Given the description of an element on the screen output the (x, y) to click on. 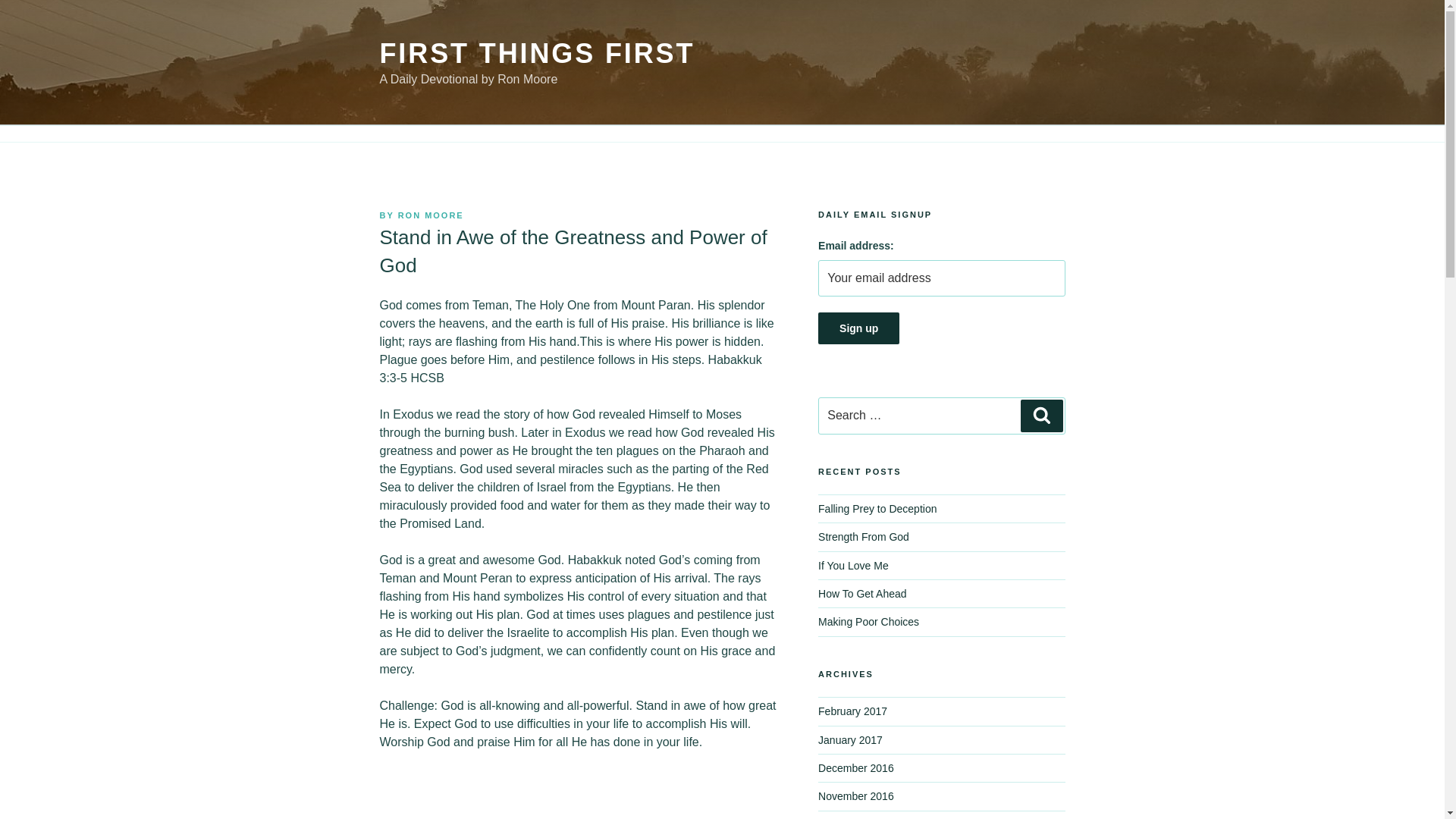
How To Get Ahead (861, 593)
Sign up (858, 327)
Search (1041, 415)
November 2016 (855, 796)
January 2017 (850, 739)
February 2017 (852, 711)
If You Love Me (853, 565)
RON MOORE (430, 215)
FIRST THINGS FIRST (536, 52)
Strength From God (863, 536)
Sign up (858, 327)
December 2016 (855, 767)
Falling Prey to Deception (877, 508)
Making Poor Choices (868, 621)
